Given the description of an element on the screen output the (x, y) to click on. 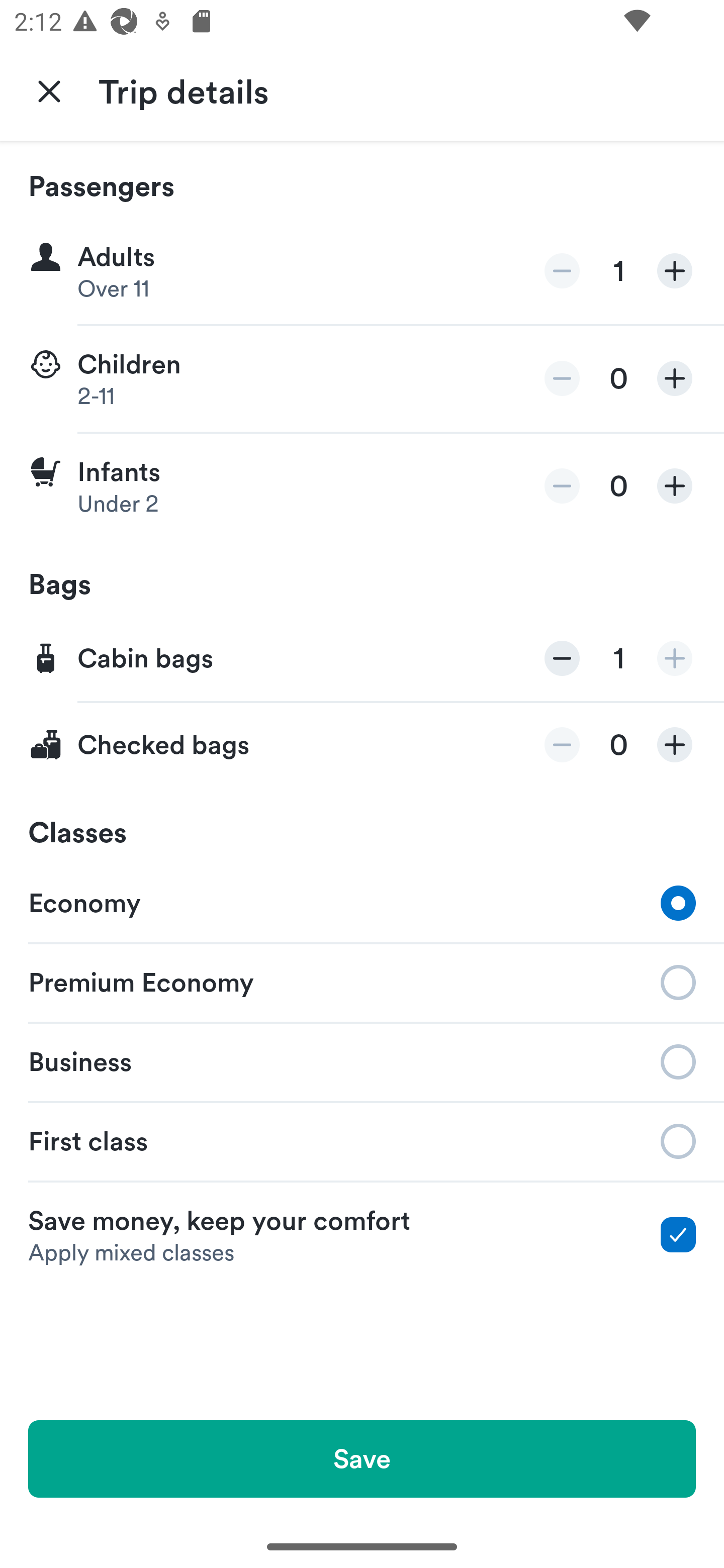
Navigate up (49, 90)
Remove 1 Add Adults Over 11 (362, 271)
Remove (561, 270)
Add (674, 270)
Remove 0 Add Children 2-11 (362, 379)
Remove (561, 377)
Add (674, 377)
Remove 0 Add Infants Under 2 (362, 485)
Remove (561, 485)
Add (674, 485)
Remove 1 Add Cabin bags (362, 659)
Remove (561, 658)
Add (674, 658)
Remove 0 Add Checked bags (362, 744)
Remove (561, 744)
Add (674, 744)
Premium Economy (362, 980)
Business (362, 1060)
First class (362, 1141)
Save (361, 1458)
